Given the description of an element on the screen output the (x, y) to click on. 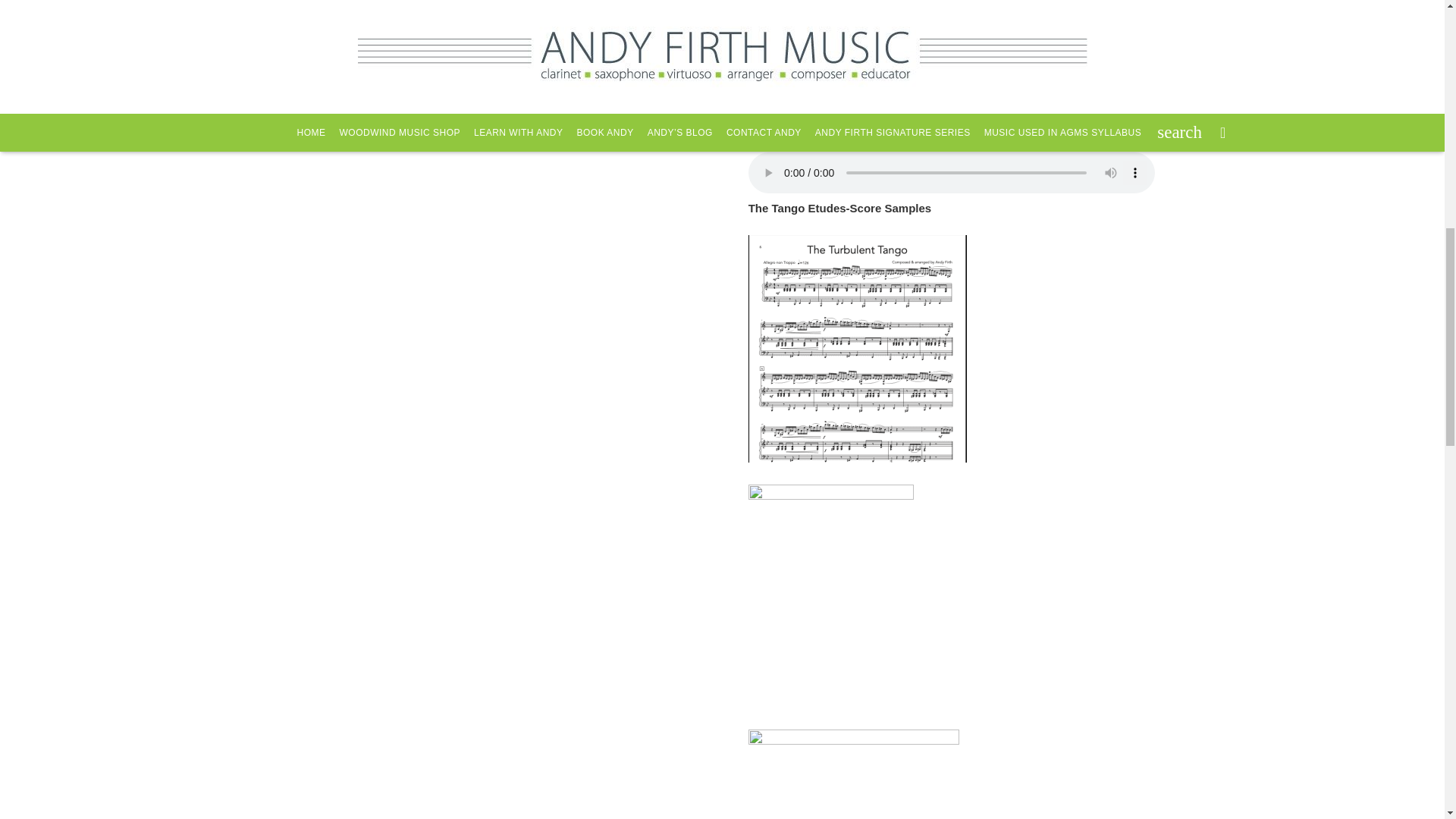
Tango (770, 7)
Back to top (31, 28)
